Given the description of an element on the screen output the (x, y) to click on. 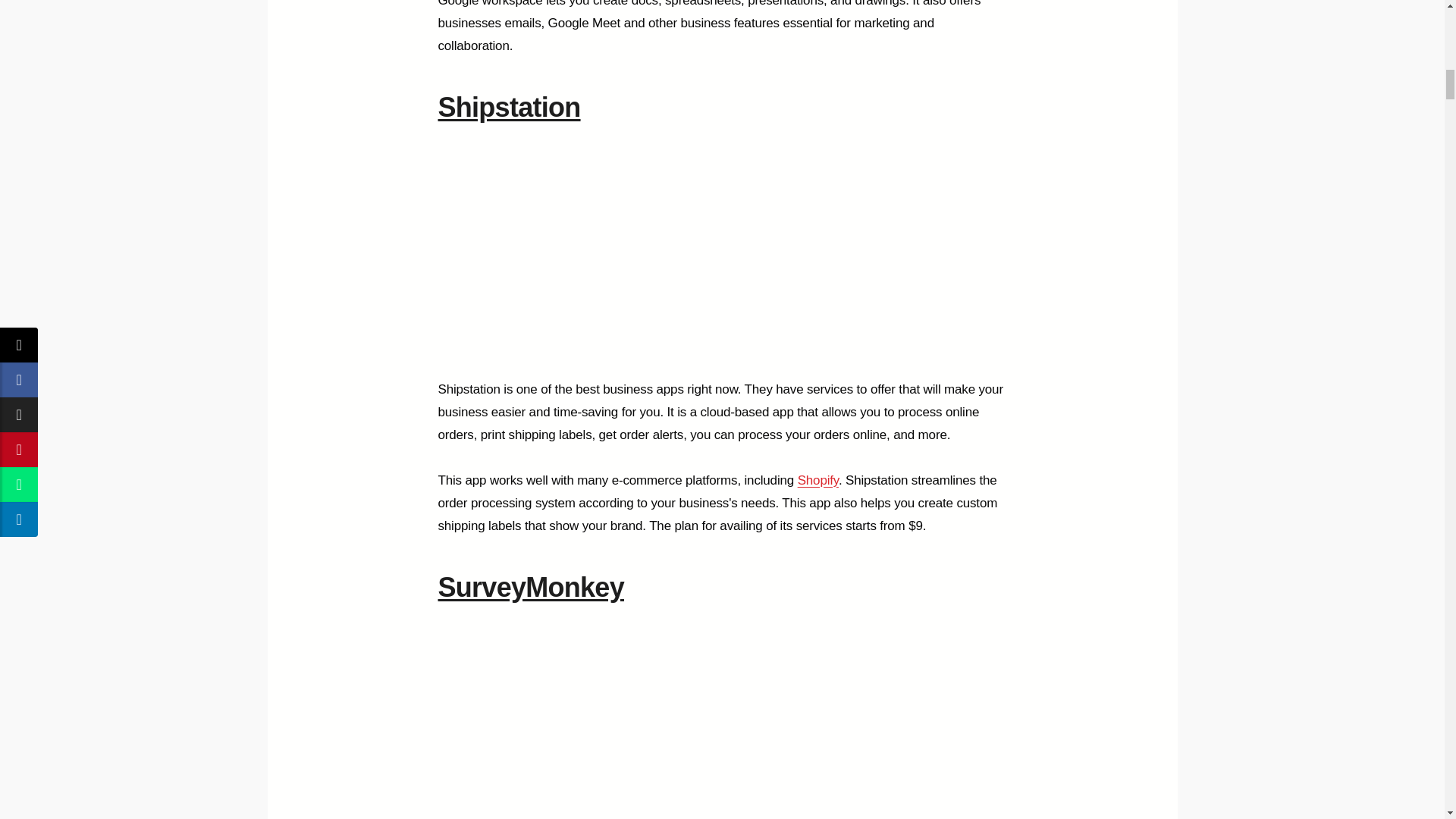
Shopify (817, 480)
Shipstation (509, 106)
SurveyMonkey (531, 586)
